Given the description of an element on the screen output the (x, y) to click on. 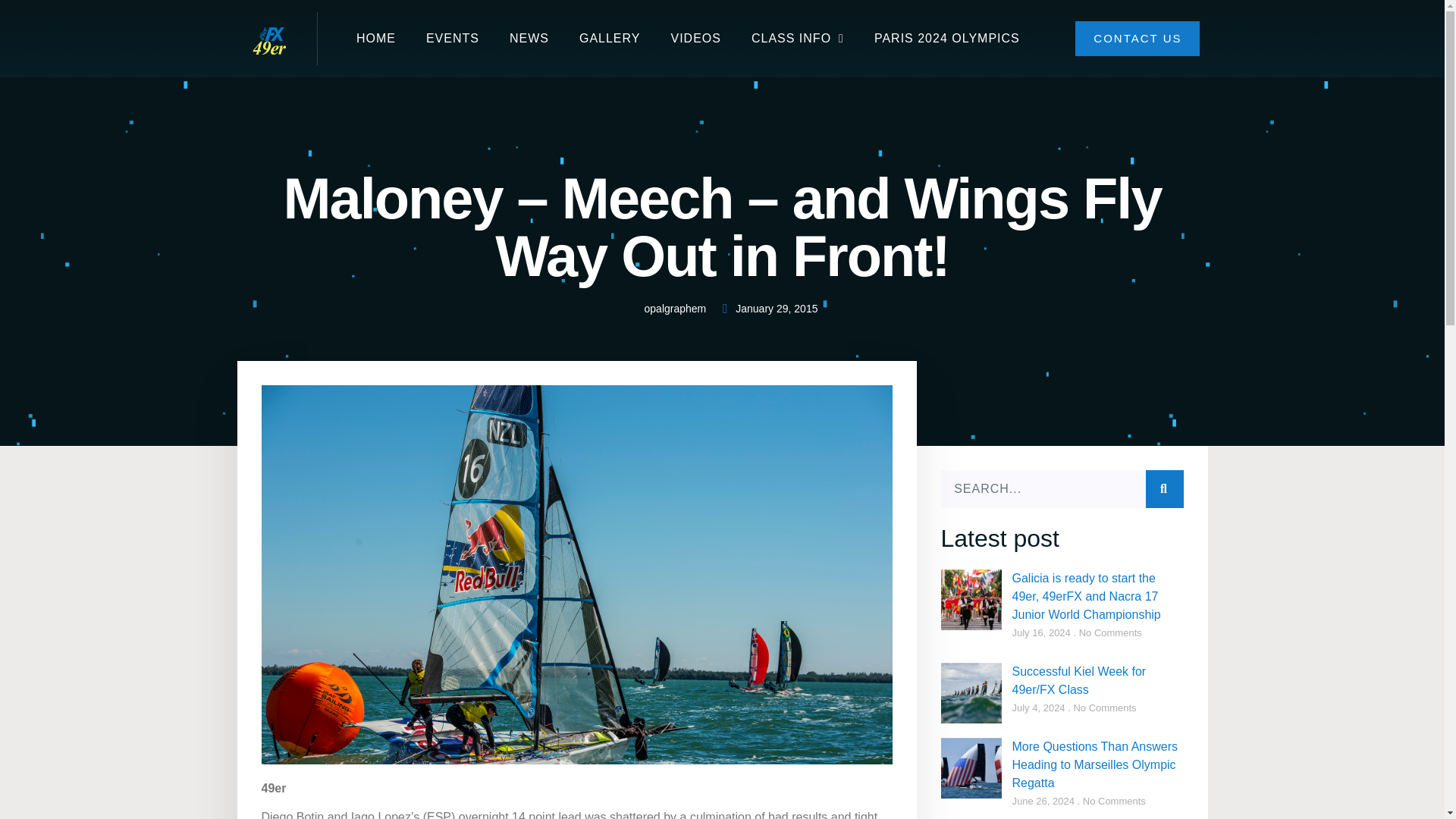
PARIS 2024 OLYMPICS (947, 38)
NEWS (529, 38)
GALLERY (610, 38)
VIDEOS (695, 38)
HOME (375, 38)
EVENTS (452, 38)
CLASS INFO (797, 38)
49er logo (269, 37)
